Given the description of an element on the screen output the (x, y) to click on. 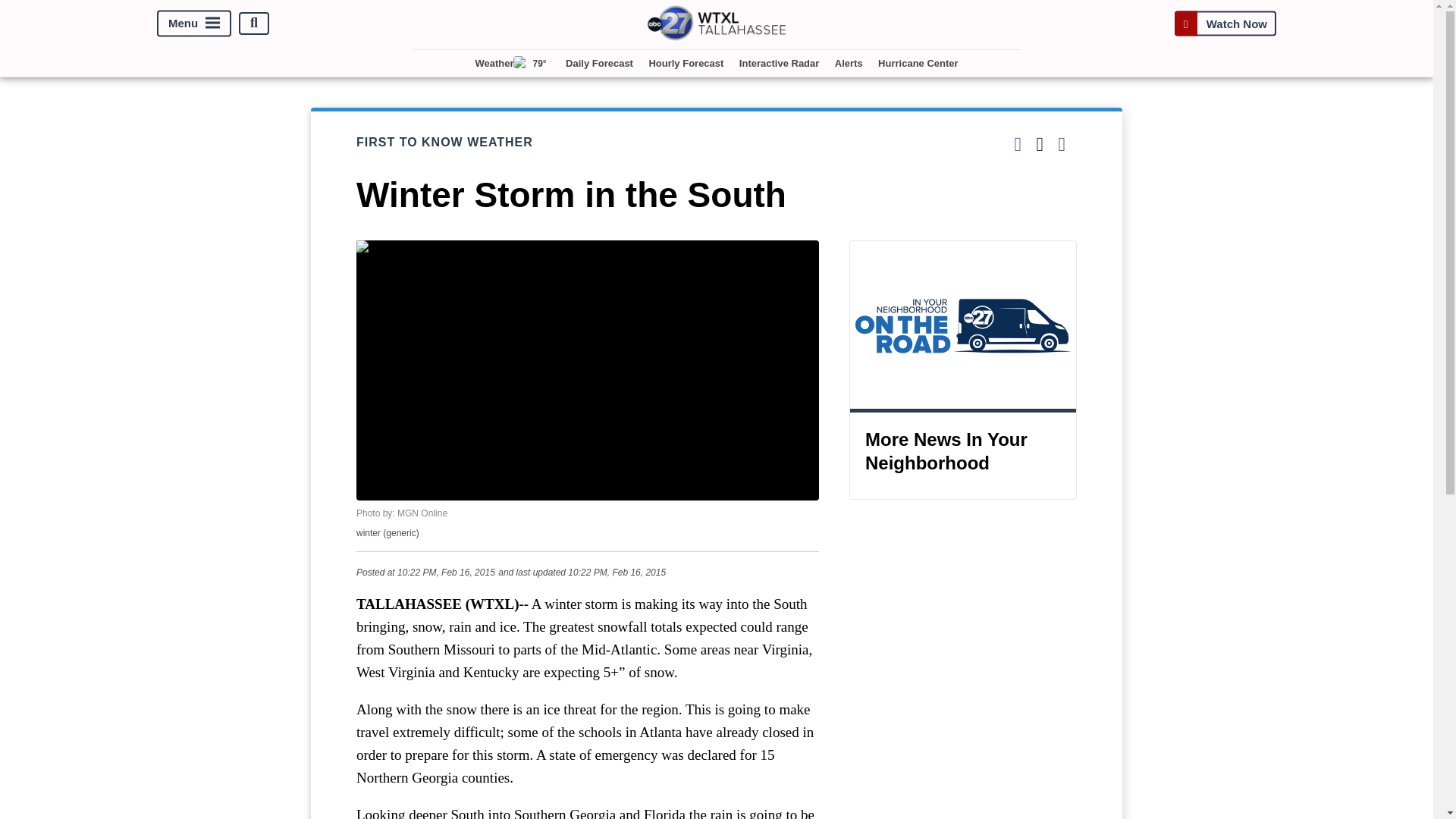
Watch Now (1224, 22)
Menu (194, 22)
